Given the description of an element on the screen output the (x, y) to click on. 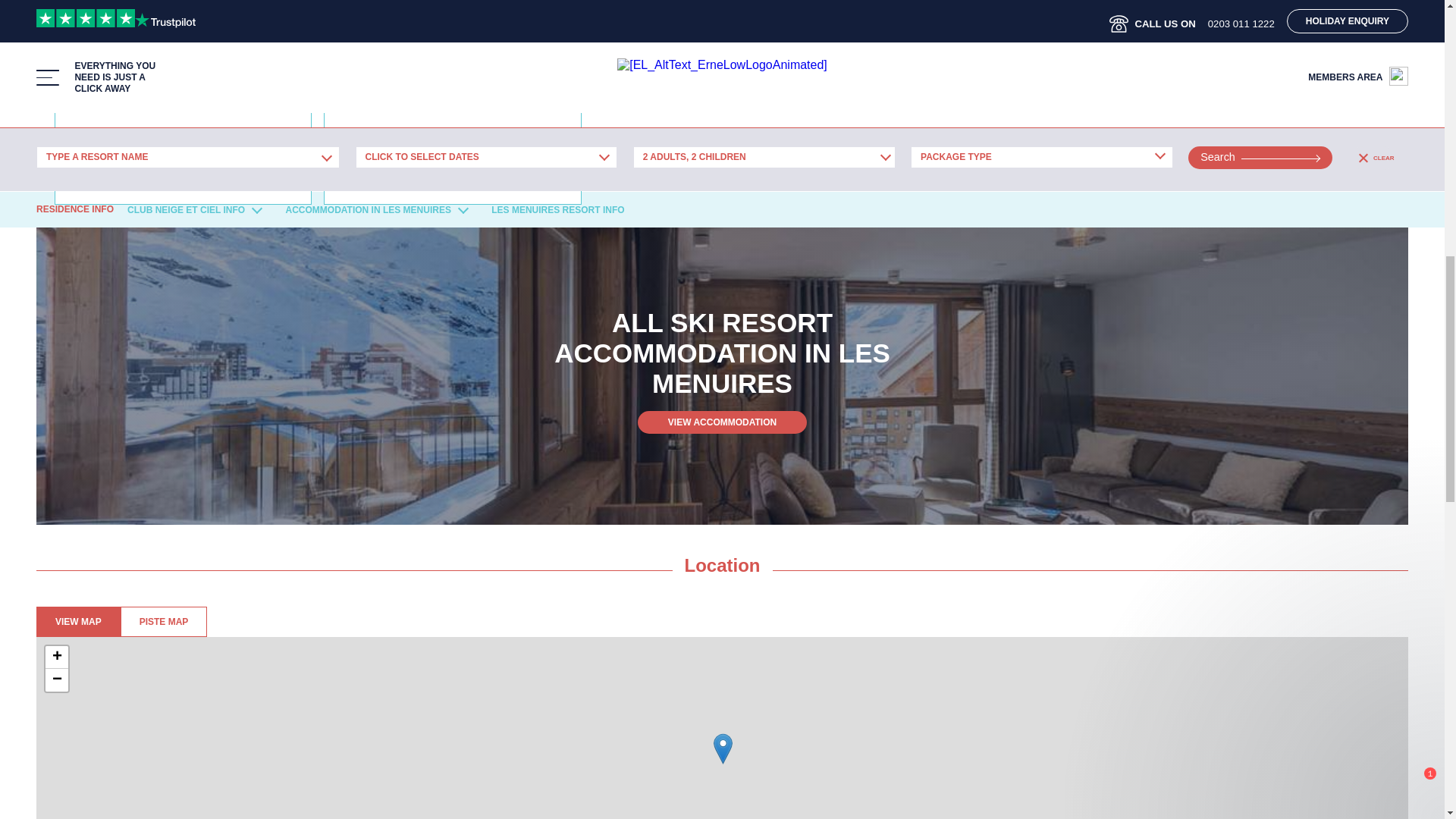
Zoom in (56, 657)
Zoom out (56, 680)
